Given the description of an element on the screen output the (x, y) to click on. 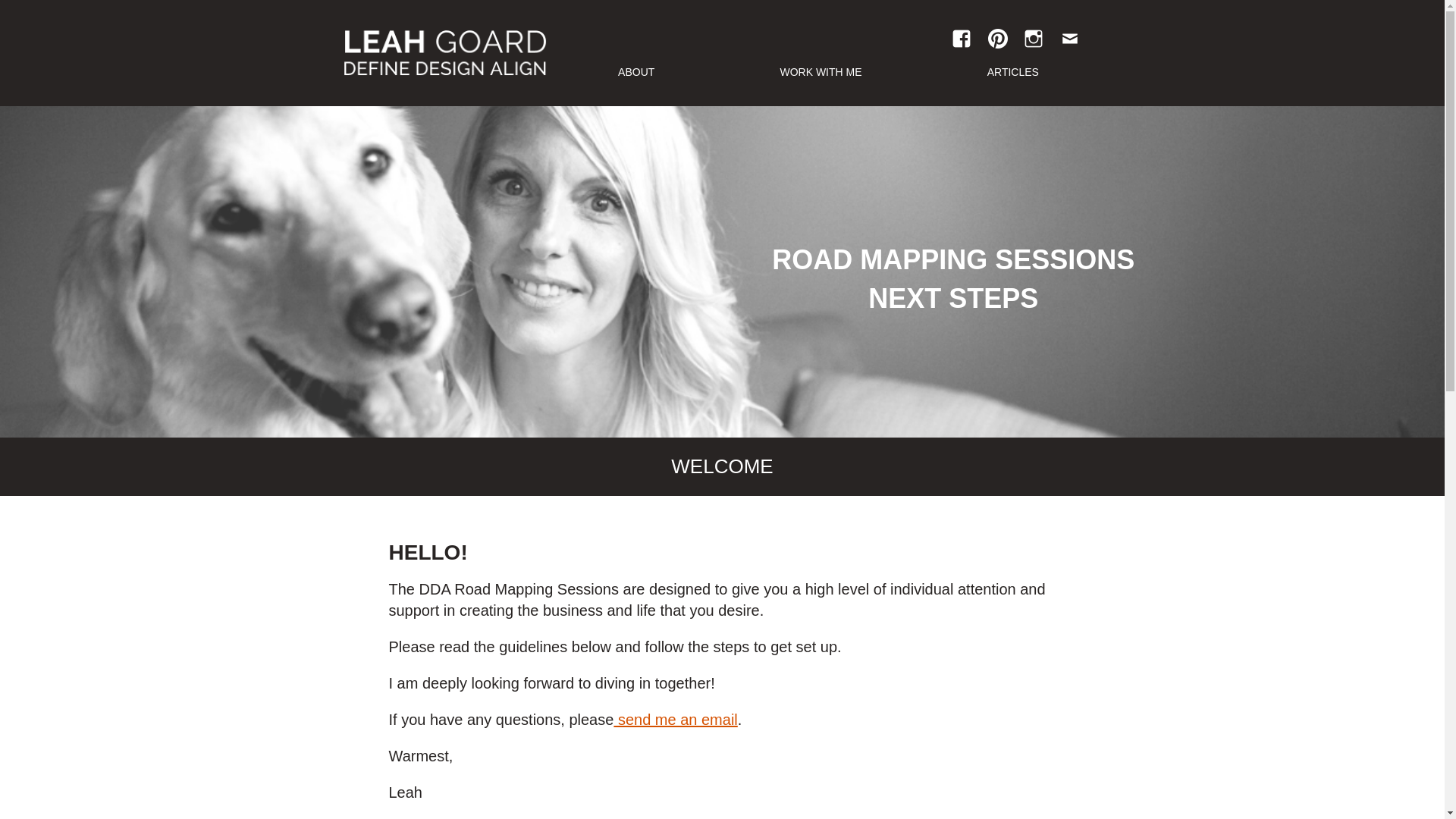
WORK WITH ME (820, 72)
ARTICLES (1013, 72)
ABOUT (636, 72)
LEAH GOARD (444, 52)
send me an email (674, 719)
